Given the description of an element on the screen output the (x, y) to click on. 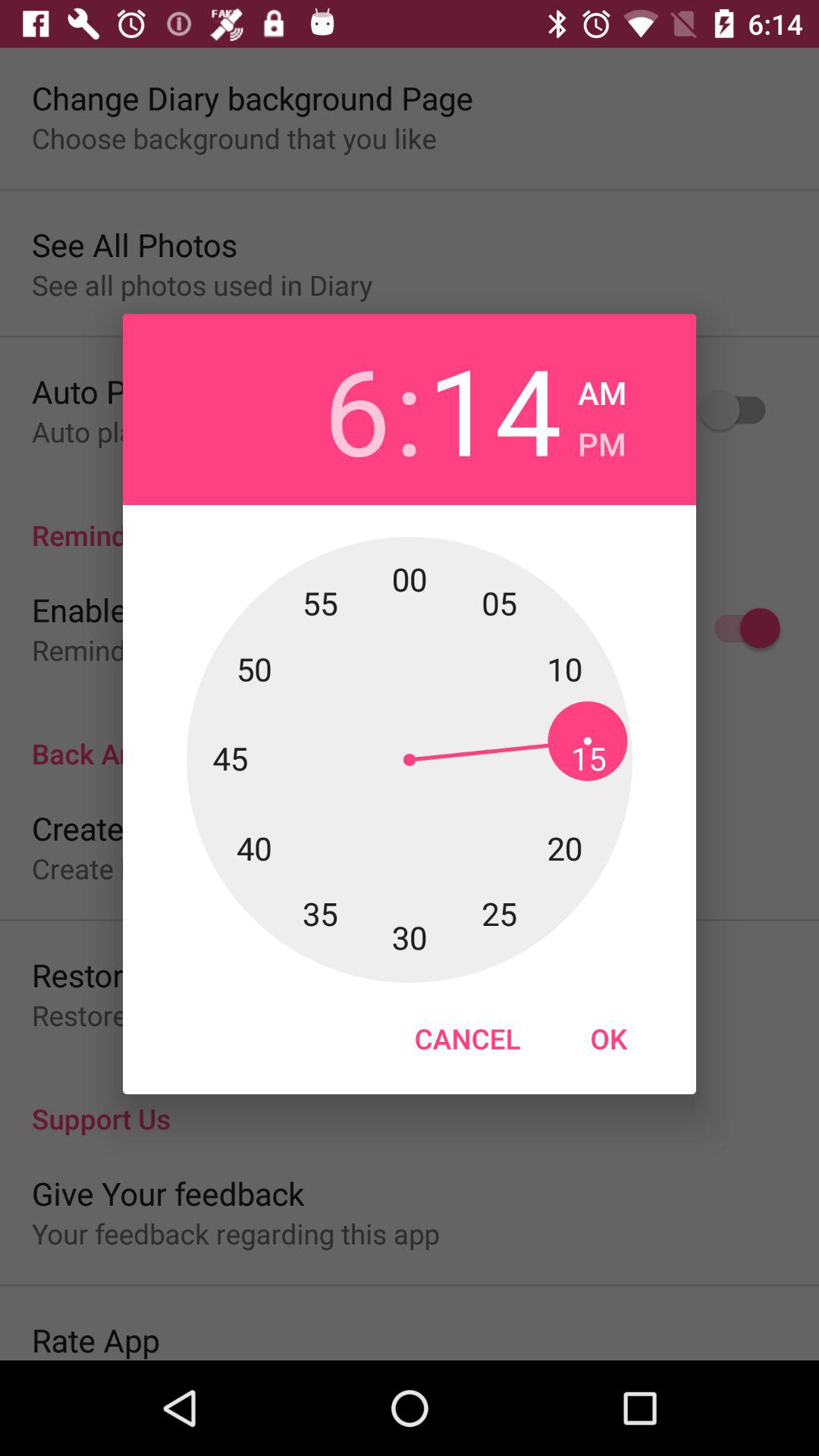
flip until 6 icon (323, 408)
